Given the description of an element on the screen output the (x, y) to click on. 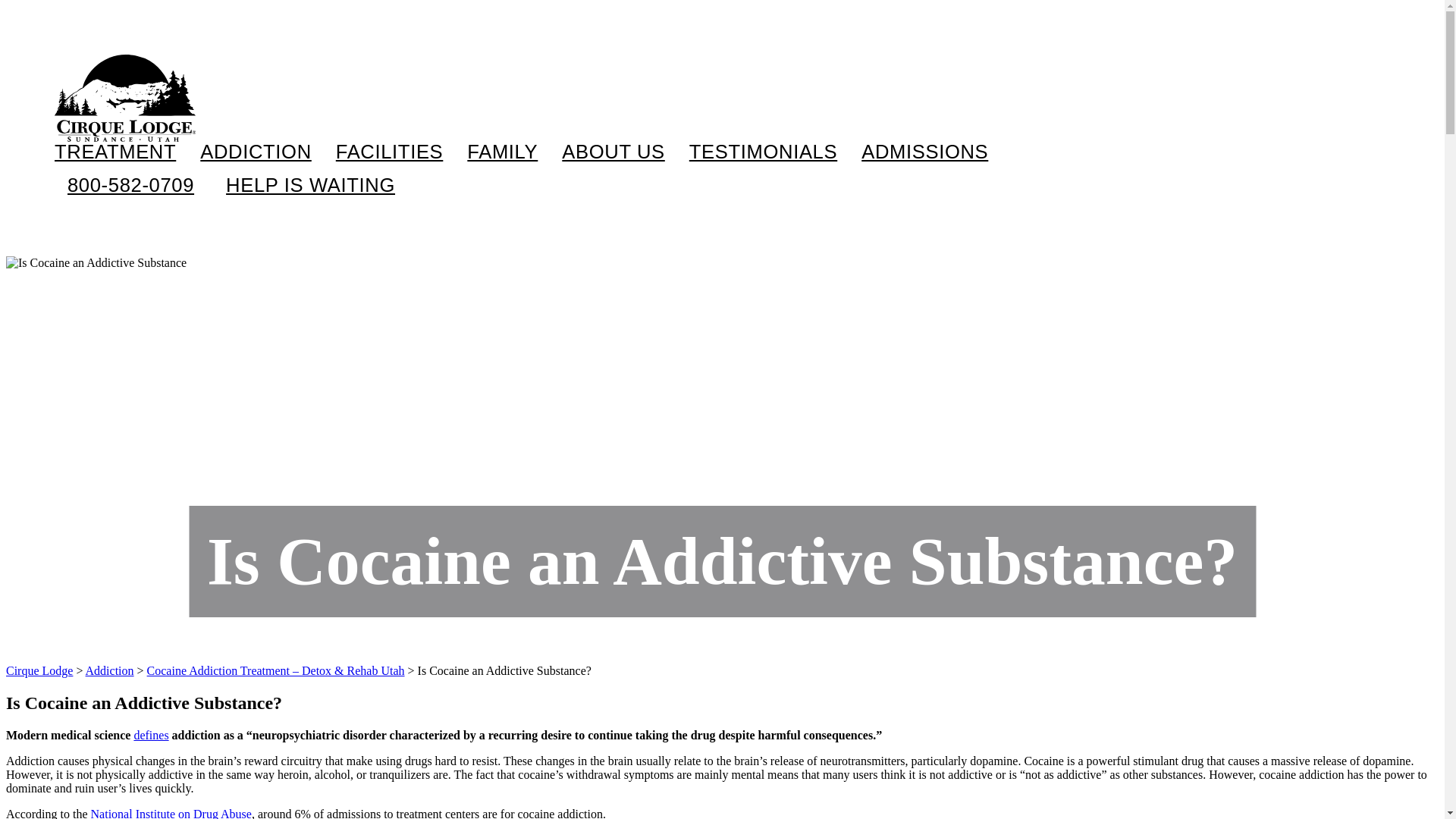
Experience (386, 203)
ABOUT US (613, 151)
FAMILY (502, 151)
Contact Us (309, 185)
FACILITIES (390, 151)
ADDICTION (255, 151)
Alumni (680, 203)
Cirque Lodge (125, 97)
Call Us (130, 185)
Drug Rehab (157, 203)
Drug Addiction (335, 203)
Family Intervention (583, 203)
Go to Addiction. (109, 670)
TREATMENT (115, 151)
Go to Cirque Lodge. (38, 670)
